Given the description of an element on the screen output the (x, y) to click on. 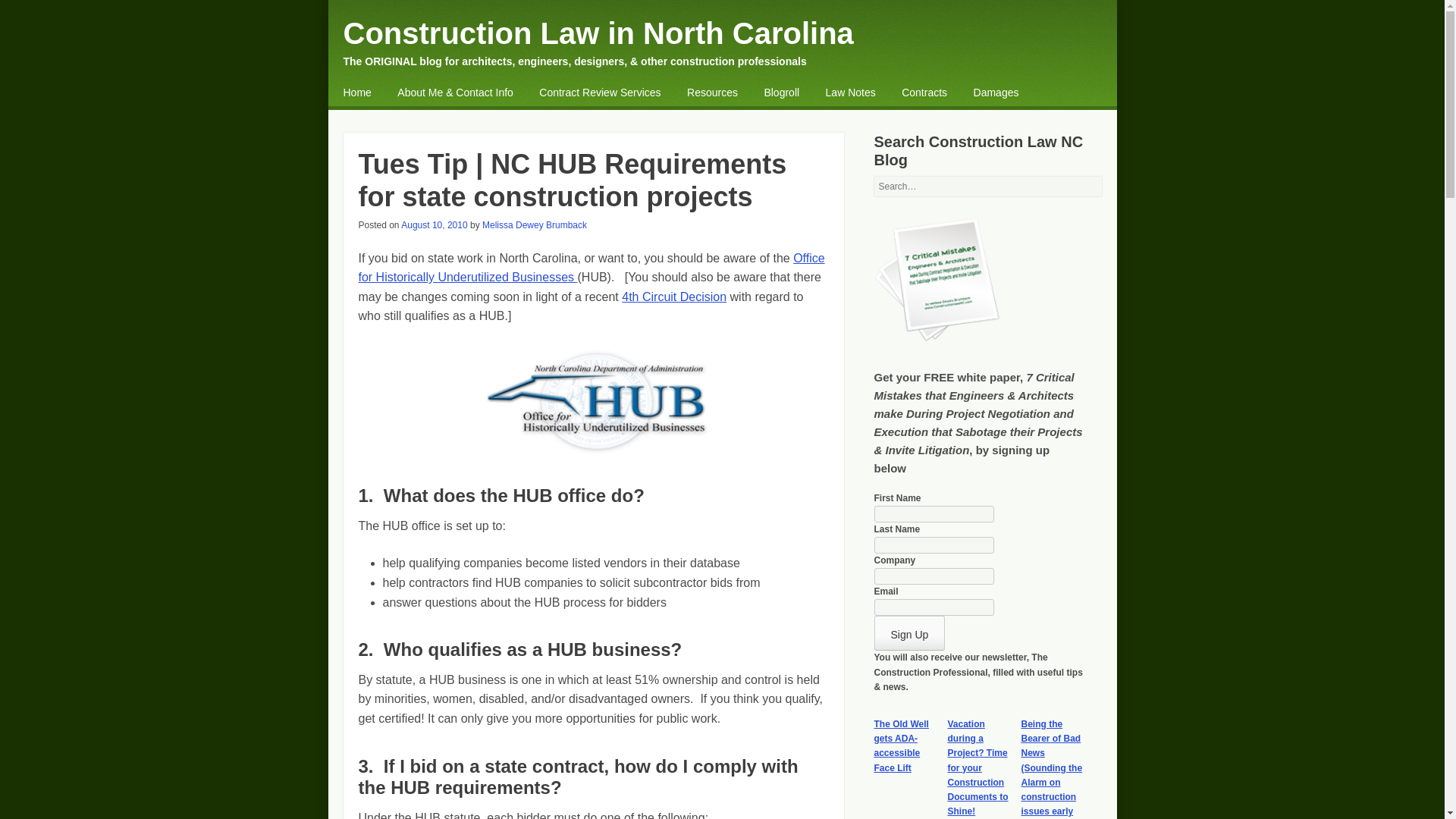
Blogroll (780, 92)
Law Notes (850, 92)
Melissa Dewey Brumback (533, 225)
Skip to content (382, 94)
6:59 am (434, 225)
4th Circuit Decision (673, 296)
Skip to content (382, 94)
Construction Law in North Carolina (597, 32)
View all posts by Melissa Dewey Brumback (533, 225)
Resources (712, 92)
